Given the description of an element on the screen output the (x, y) to click on. 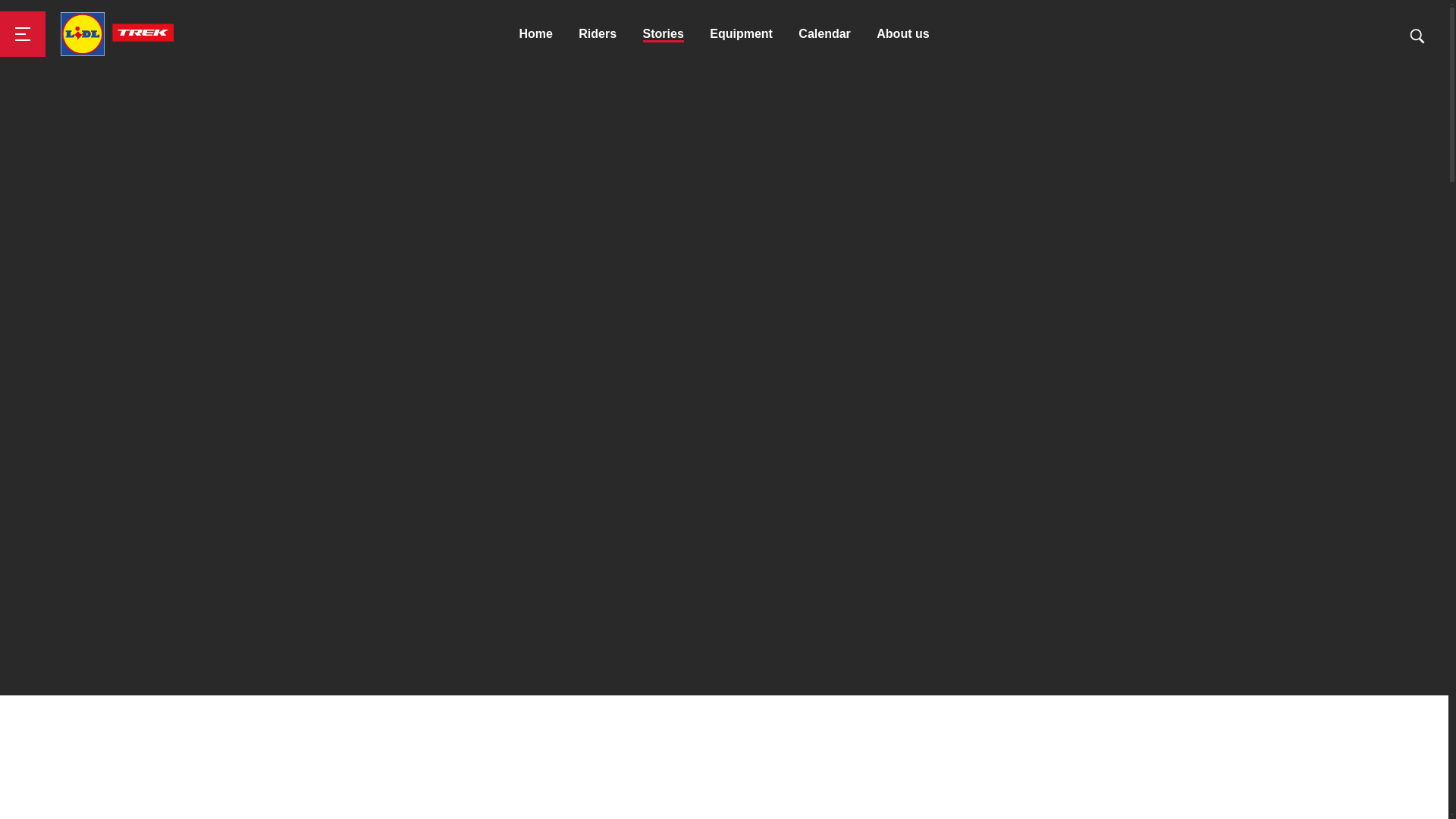
Home (534, 33)
Trek Race Shop (117, 34)
Stories (663, 33)
Riders (596, 33)
Equipment (741, 33)
Calendar (823, 33)
About us (902, 33)
